Given the description of an element on the screen output the (x, y) to click on. 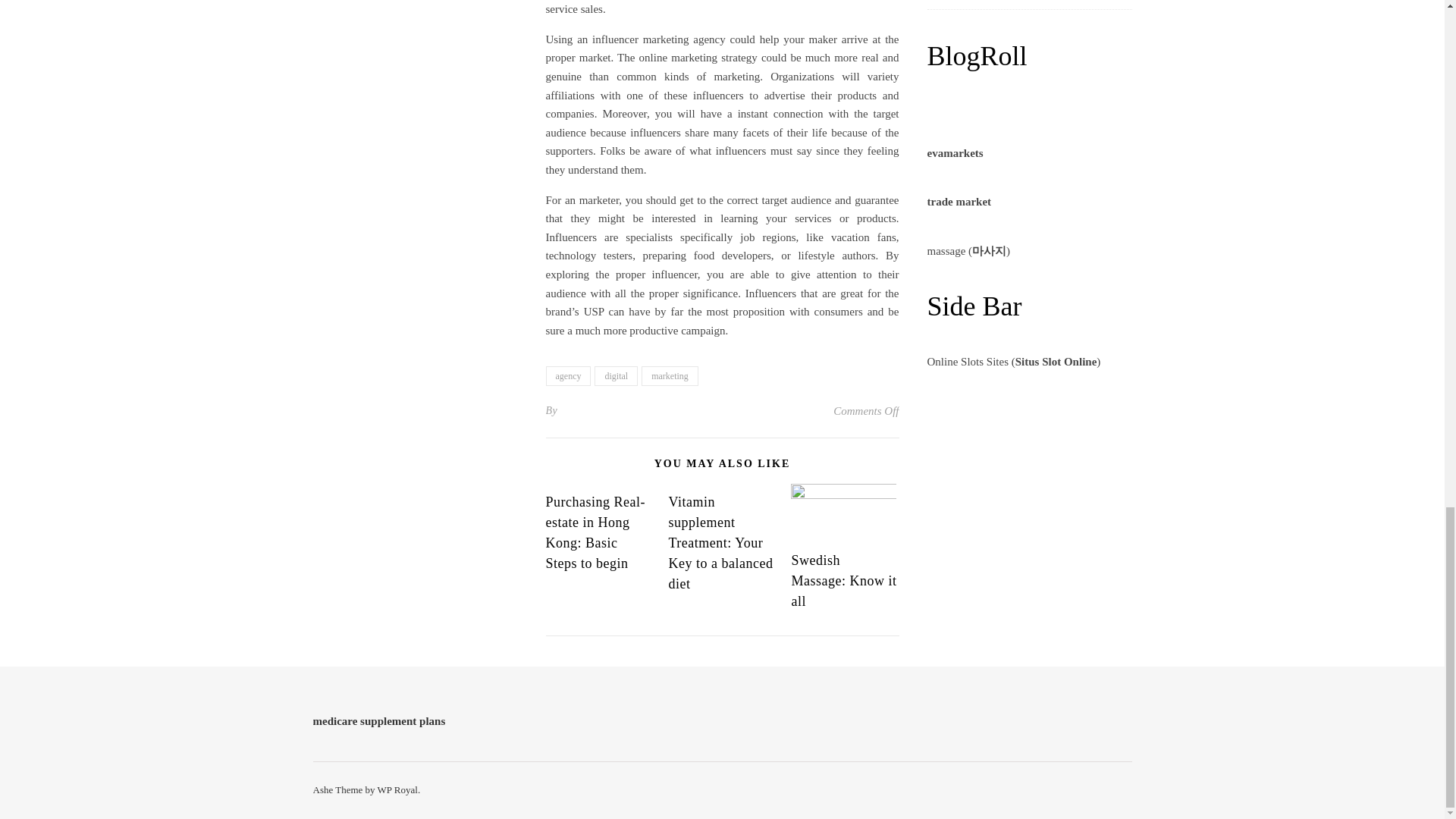
marketing (670, 375)
Vitamin supplement Treatment: Your Key to a balanced diet (720, 542)
Swedish Massage: Know it all (843, 580)
Software (947, 4)
digital (615, 375)
agency (568, 375)
Purchasing Real-estate in Hong Kong: Basic Steps to begin (595, 532)
